Given the description of an element on the screen output the (x, y) to click on. 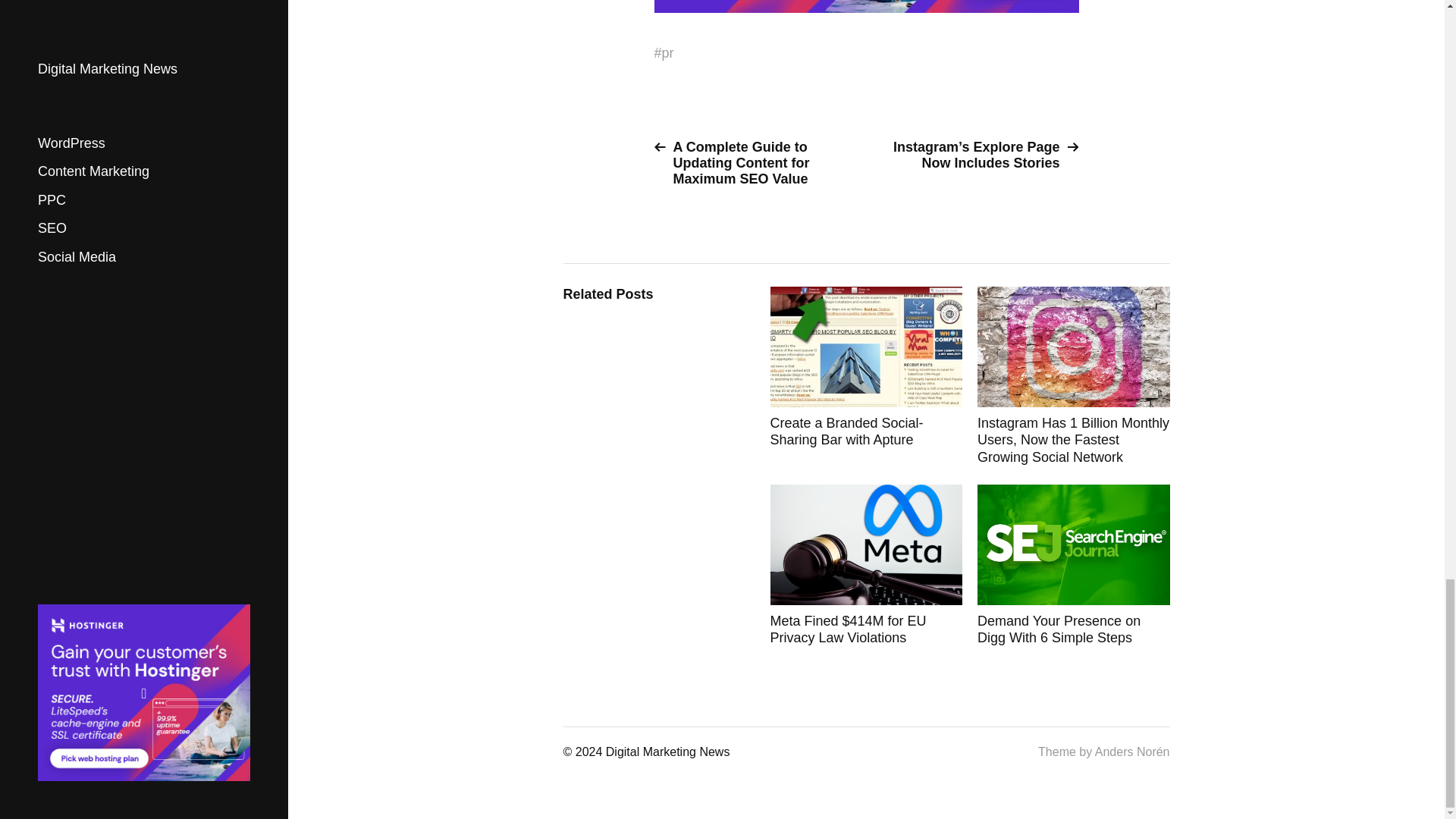
Demand Your Presence on Digg With 6 Simple Steps (1073, 565)
A Complete Guide to Updating Content for Maximum SEO Value (753, 163)
Digital Marketing News (667, 752)
Create a Branded Social-Sharing Bar with Apture (866, 376)
